Given the description of an element on the screen output the (x, y) to click on. 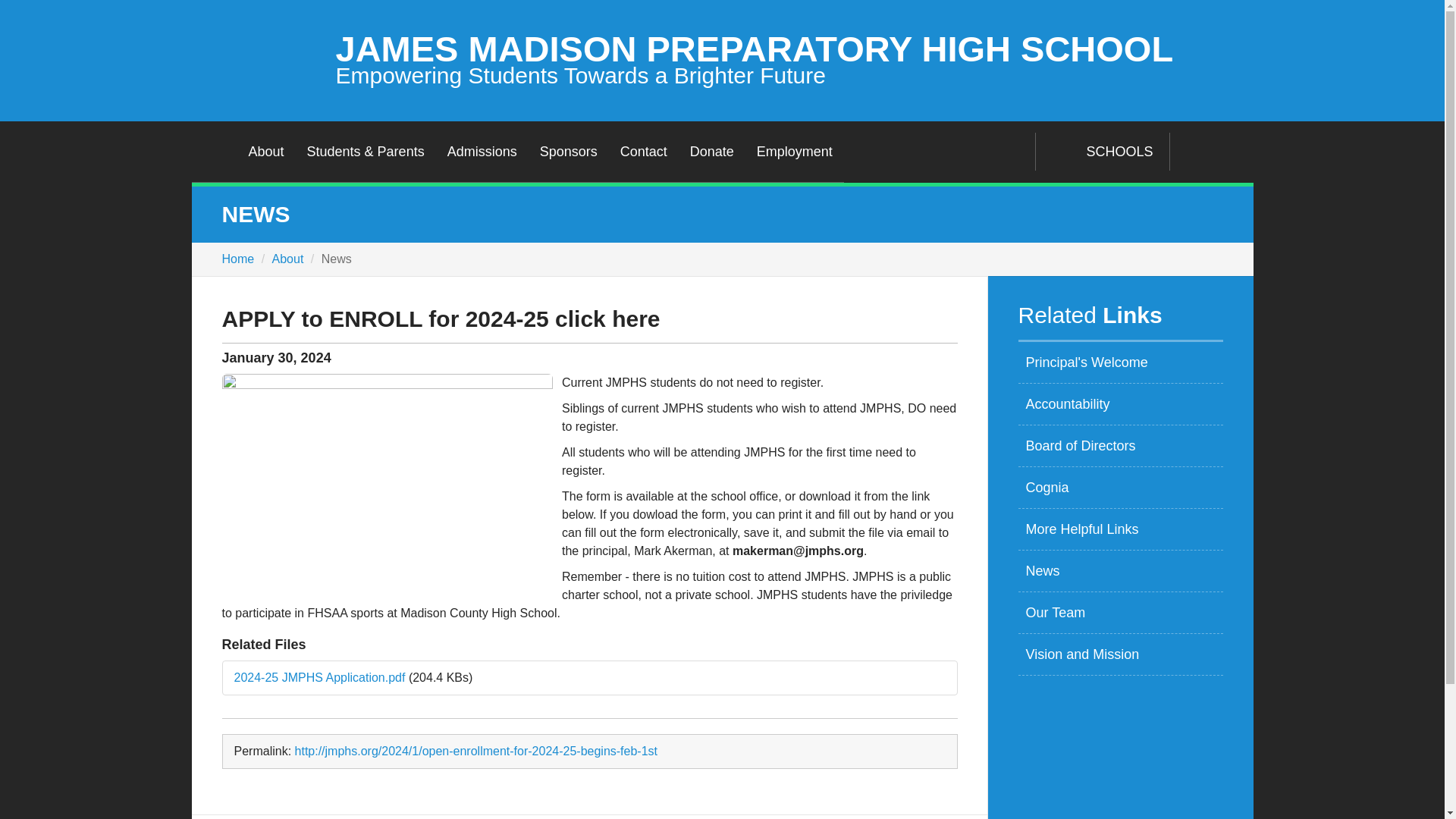
About (265, 151)
Admissions (481, 151)
Sponsors (568, 151)
SCHOOLS (1102, 151)
Employment (794, 151)
Donate (711, 151)
Contact (643, 151)
